Given the description of an element on the screen output the (x, y) to click on. 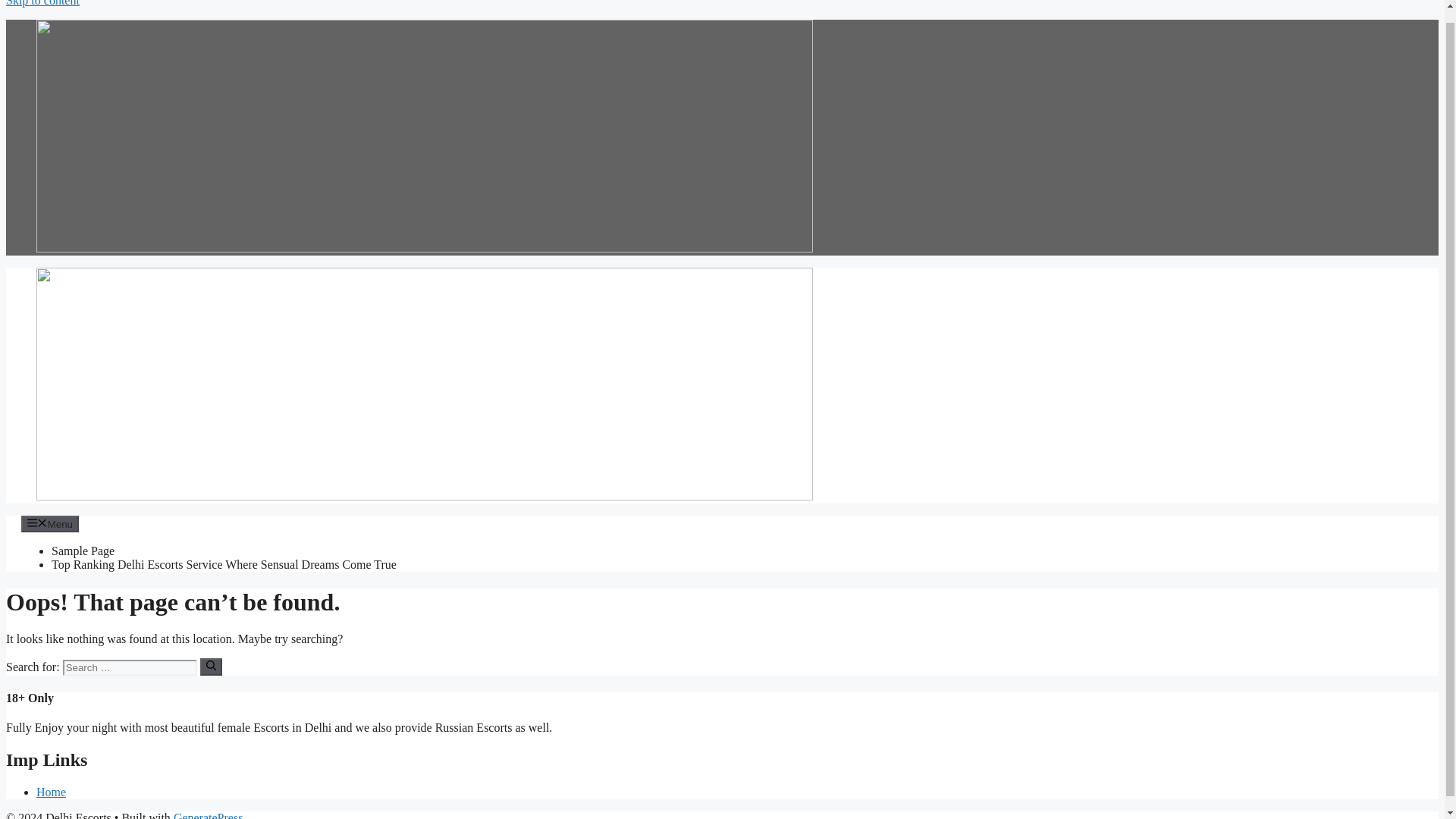
Menu (49, 523)
Sample Page (82, 550)
Skip to content (42, 3)
Search for: (129, 667)
Home (50, 791)
Skip to content (42, 3)
